Given the description of an element on the screen output the (x, y) to click on. 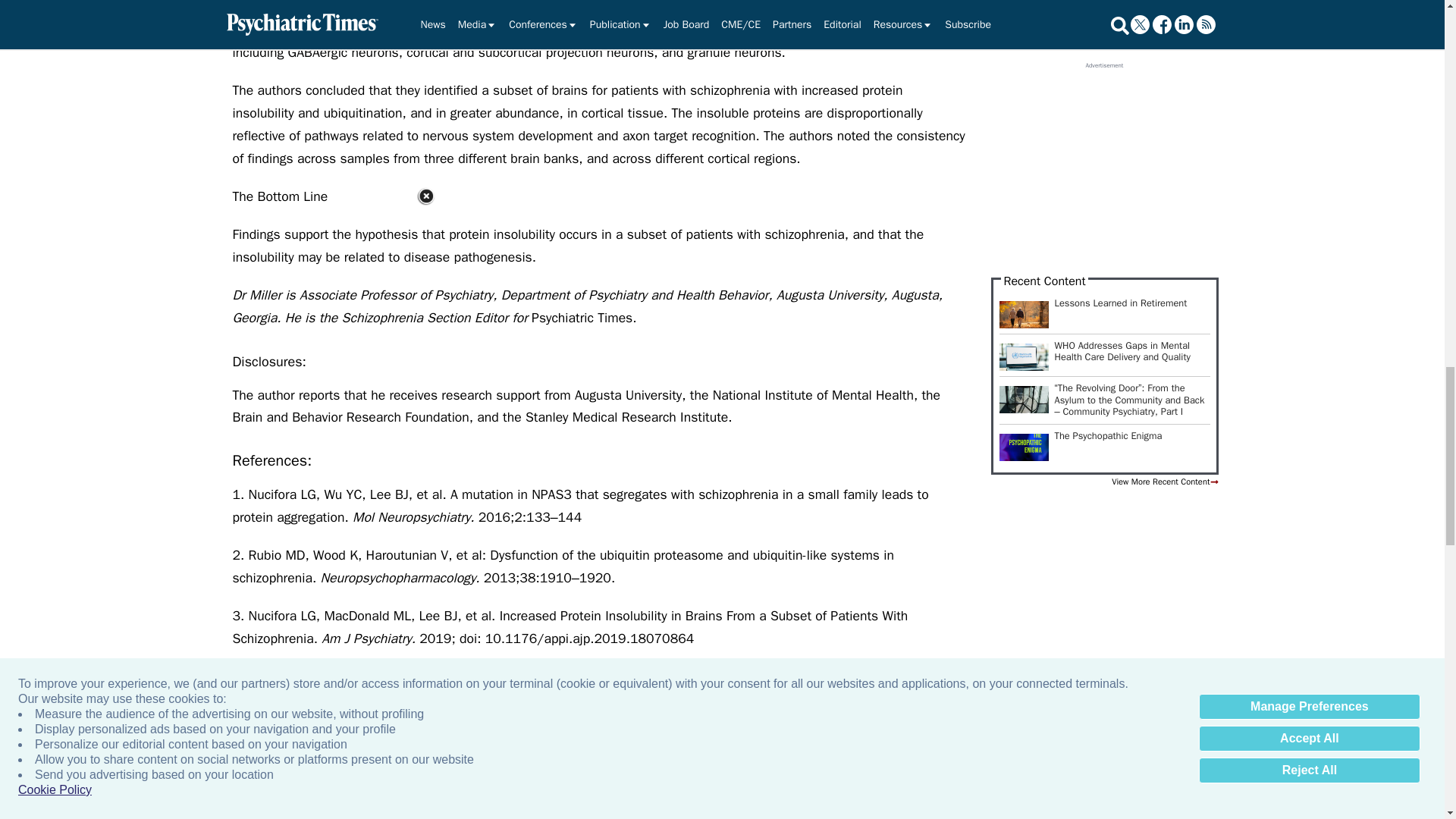
exciting, brain (1163, 798)
schizophrenia (999, 798)
Treating Agitation: A New FDA Approval  (1326, 798)
nicotine use (507, 798)
schizophrenia (835, 798)
brain schizophrenia (671, 798)
